Given the description of an element on the screen output the (x, y) to click on. 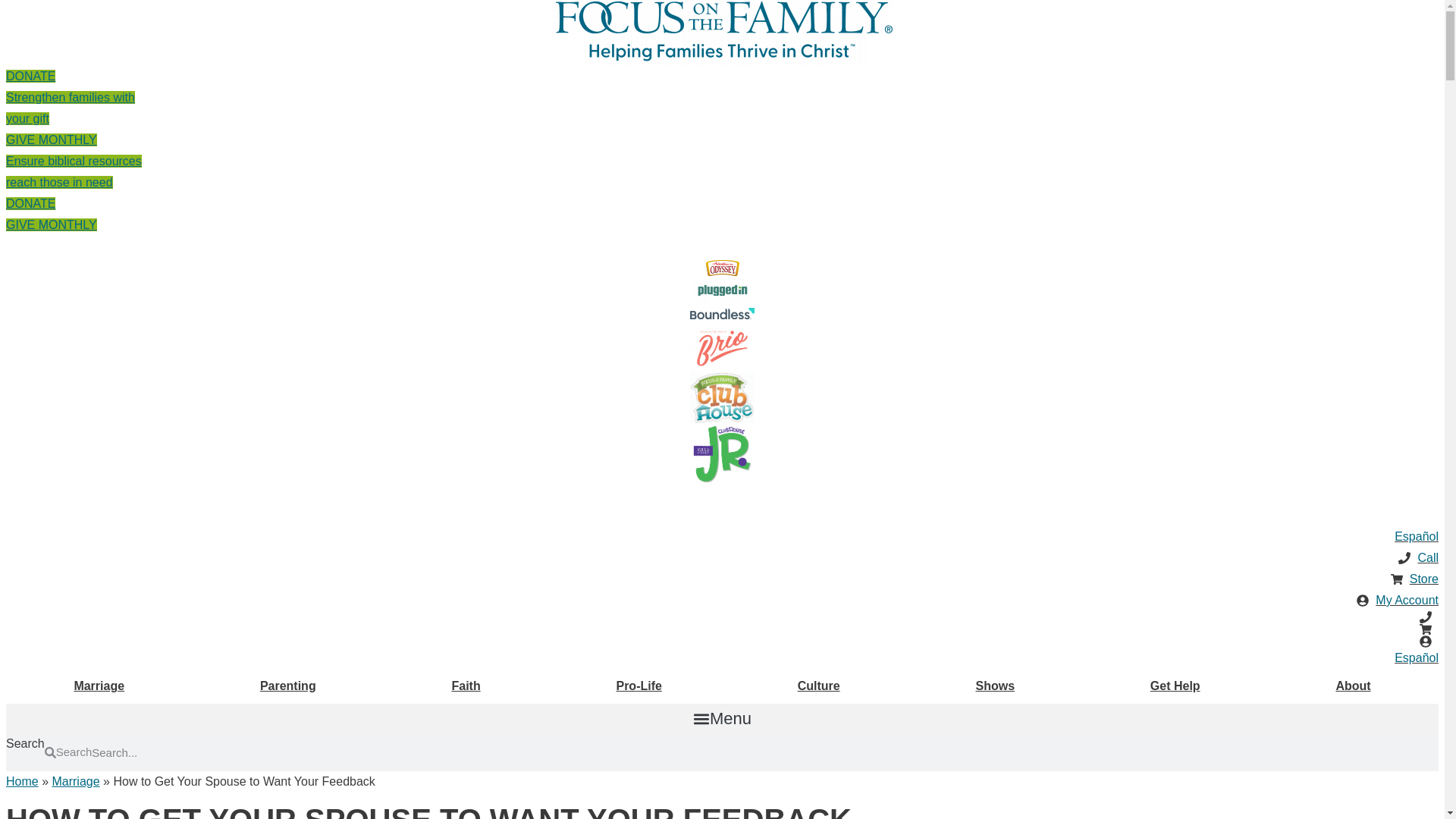
Adventures in Odyssey (721, 268)
Focus on the Family Clubhouse Jr. (722, 453)
GIVE MONTHLY (51, 224)
Boundless (722, 313)
Focus on the Family (722, 18)
Brio (722, 347)
Helping Families Thrive in Christ (721, 51)
Pro-Life (638, 686)
Parenting (288, 686)
Faith (466, 686)
